Given the description of an element on the screen output the (x, y) to click on. 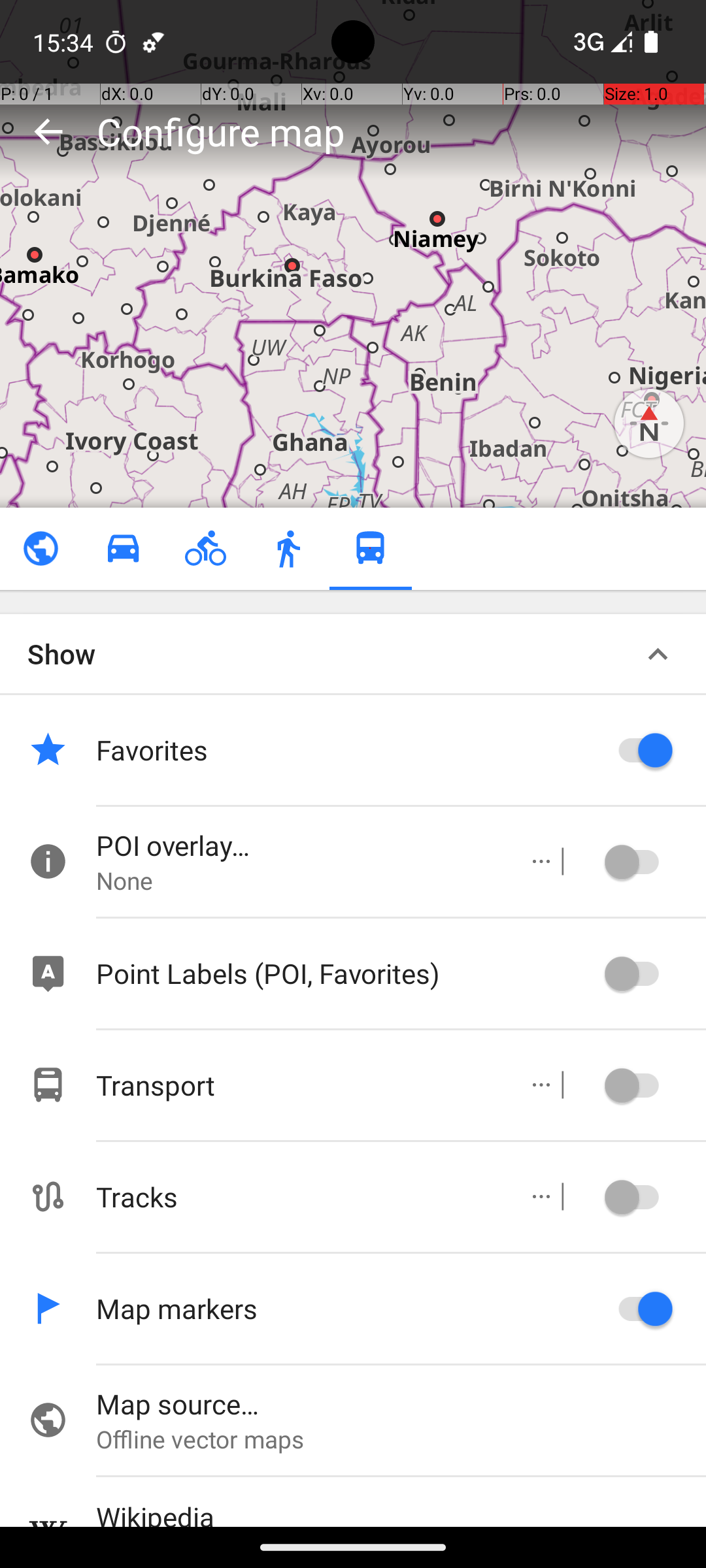
Back to map Element type: android.widget.ImageButton (48, 131)
Browse map unchecked Element type: android.widget.ImageView (40, 548)
Public transport checked Element type: android.widget.ImageView (369, 548)
Show Element type: android.widget.TextView (61, 653)
POI overlay… Element type: android.widget.TextView (298, 844)
Point Labels (POI, Favorites) Element type: android.widget.TextView (346, 972)
Transport Element type: android.widget.TextView (298, 1084)
Map source… Element type: android.widget.TextView (401, 1403)
Offline vector maps Element type: android.widget.TextView (401, 1438)
